Given the description of an element on the screen output the (x, y) to click on. 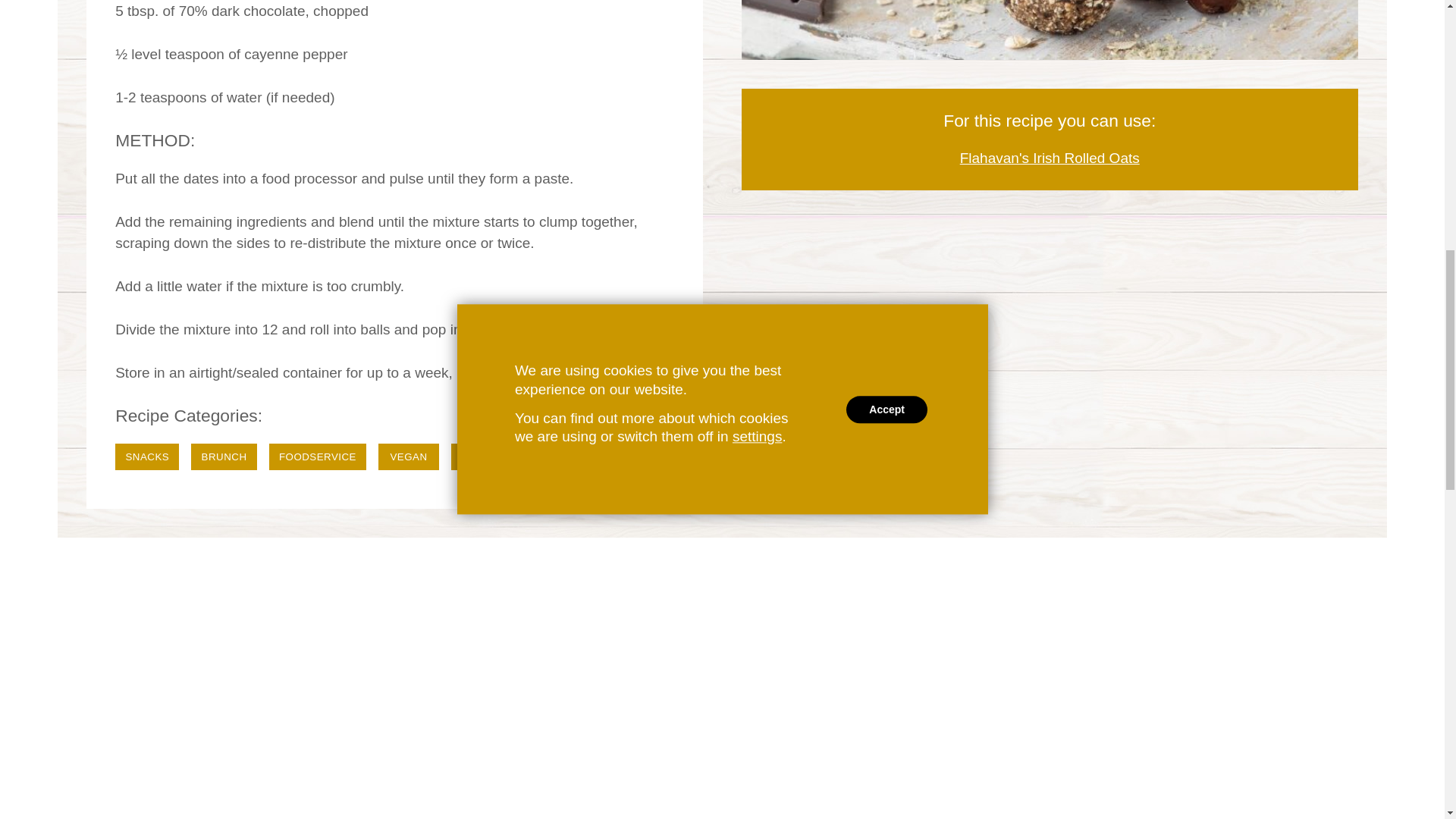
FOODSERVICE (317, 456)
Flahavan's Irish Rolled Oats (1049, 157)
SNACKS (147, 456)
VEGETARIAN (494, 456)
BRUNCH (223, 456)
VEGAN (408, 456)
DAIRY FREE (592, 456)
